Given the description of an element on the screen output the (x, y) to click on. 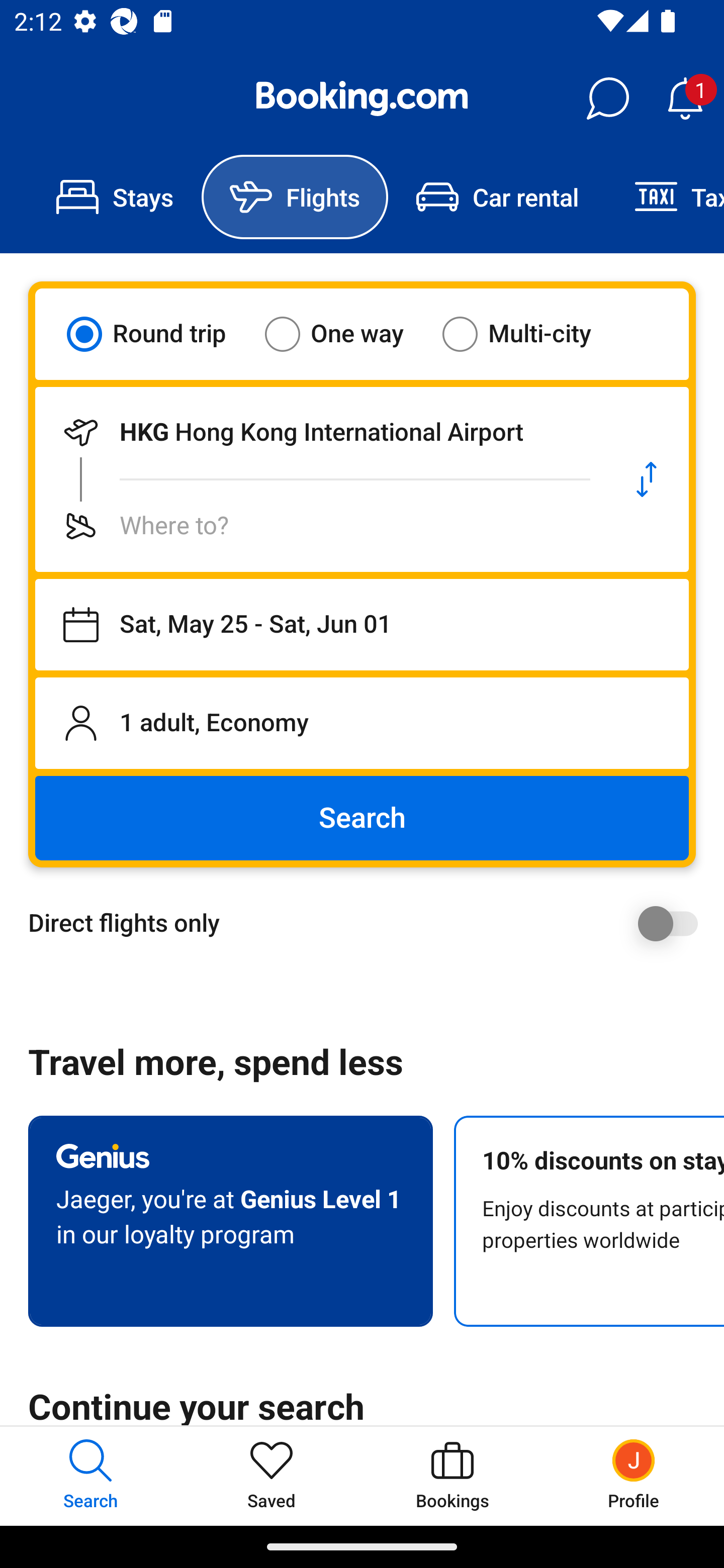
Messages (607, 98)
Notifications (685, 98)
Stays (114, 197)
Flights (294, 197)
Car rental (497, 197)
Taxi (665, 197)
One way (346, 333)
Multi-city (528, 333)
Departing from HKG Hong Kong International Airport (319, 432)
Swap departure location and destination (646, 479)
Flying to  (319, 525)
Departing on Sat, May 25, returning on Sat, Jun 01 (361, 624)
1 adult, Economy (361, 722)
Search (361, 818)
Direct flights only (369, 923)
Saved (271, 1475)
Bookings (452, 1475)
Profile (633, 1475)
